Given the description of an element on the screen output the (x, y) to click on. 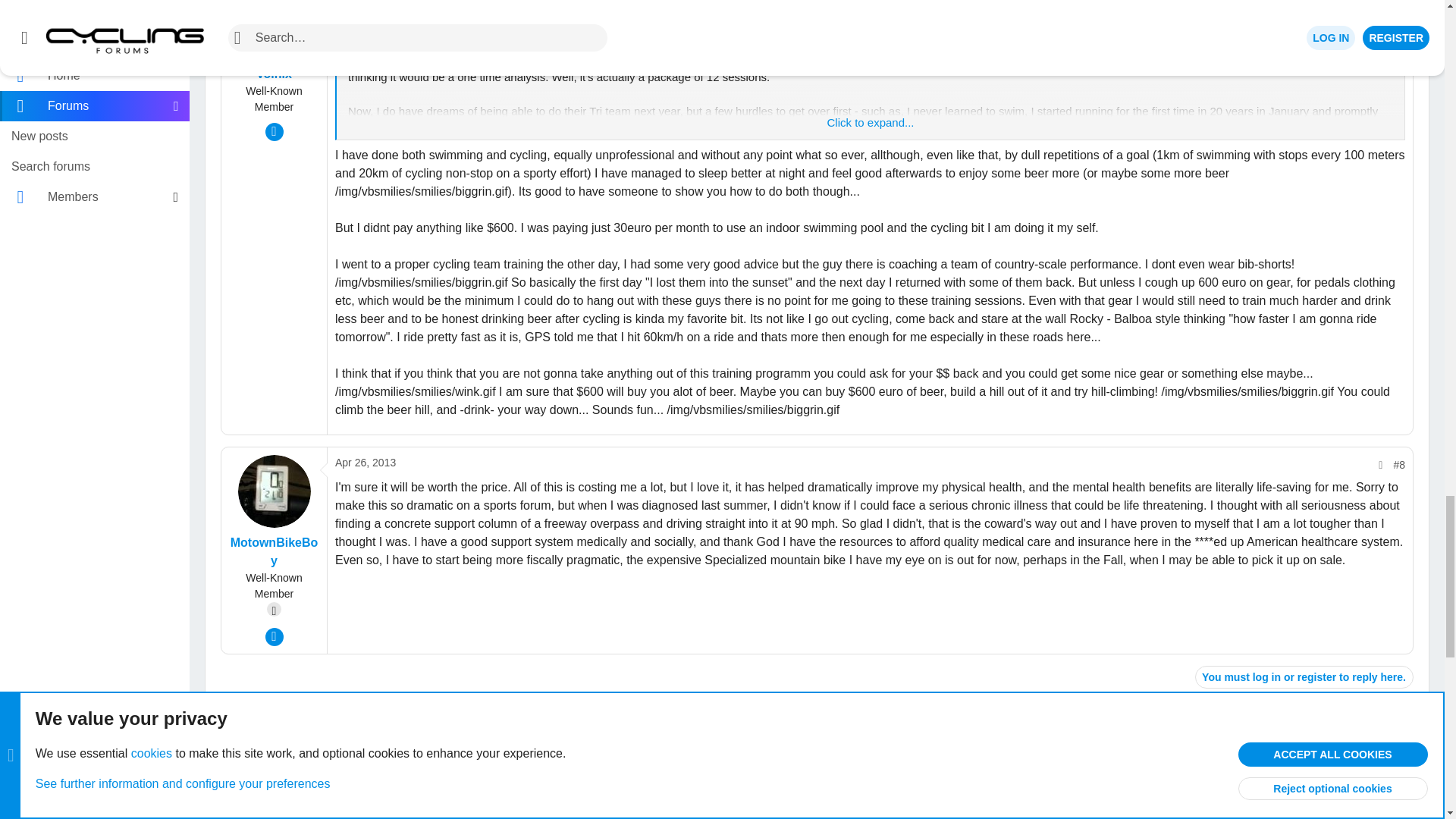
Apr 26, 2013 at 9:49 AM (365, 462)
Oct 19, 2006 at 11:15 PM (376, 797)
First message reaction score: 0 (1176, 788)
